Given the description of an element on the screen output the (x, y) to click on. 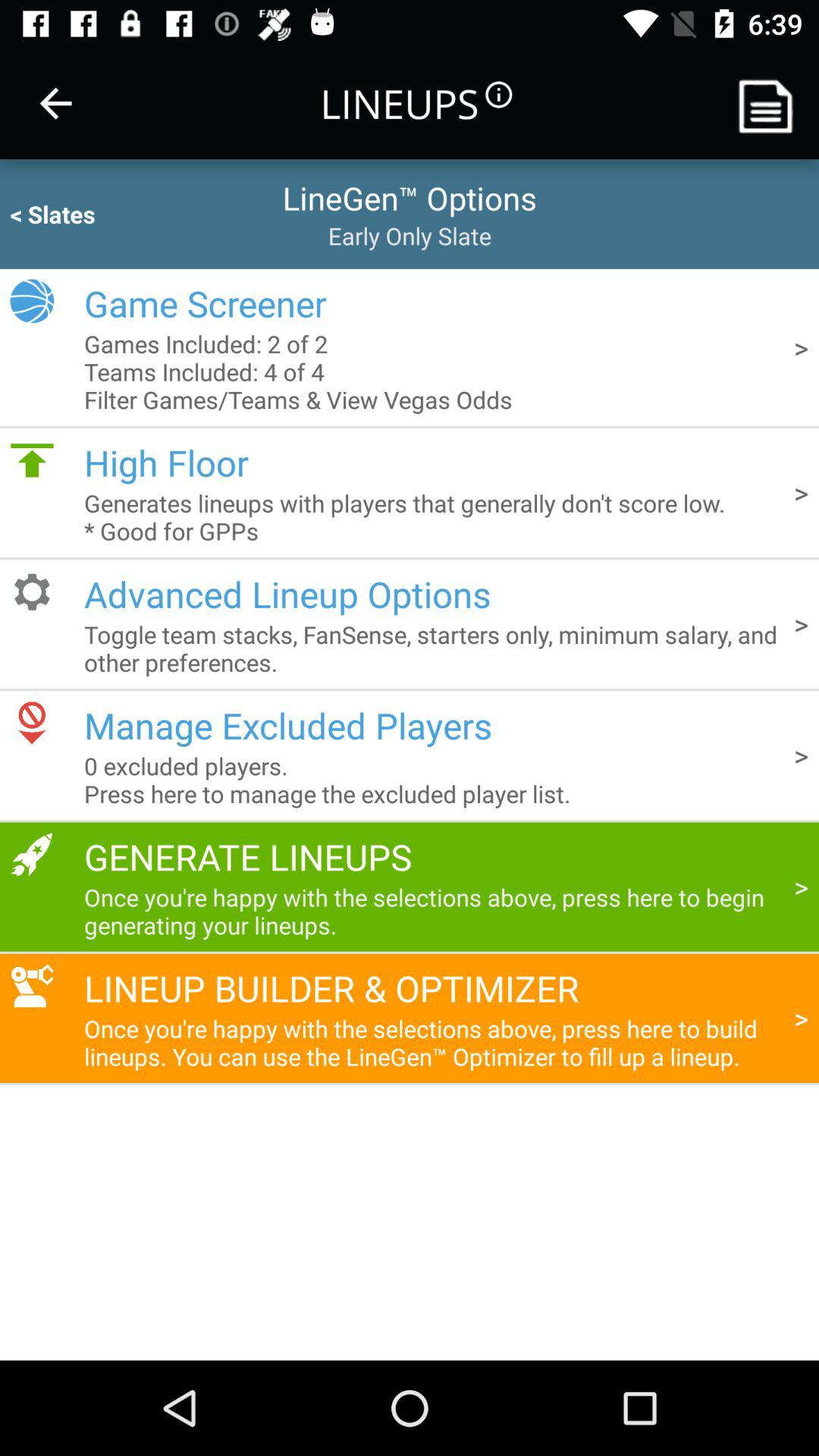
select < slates icon (81, 214)
